Given the description of an element on the screen output the (x, y) to click on. 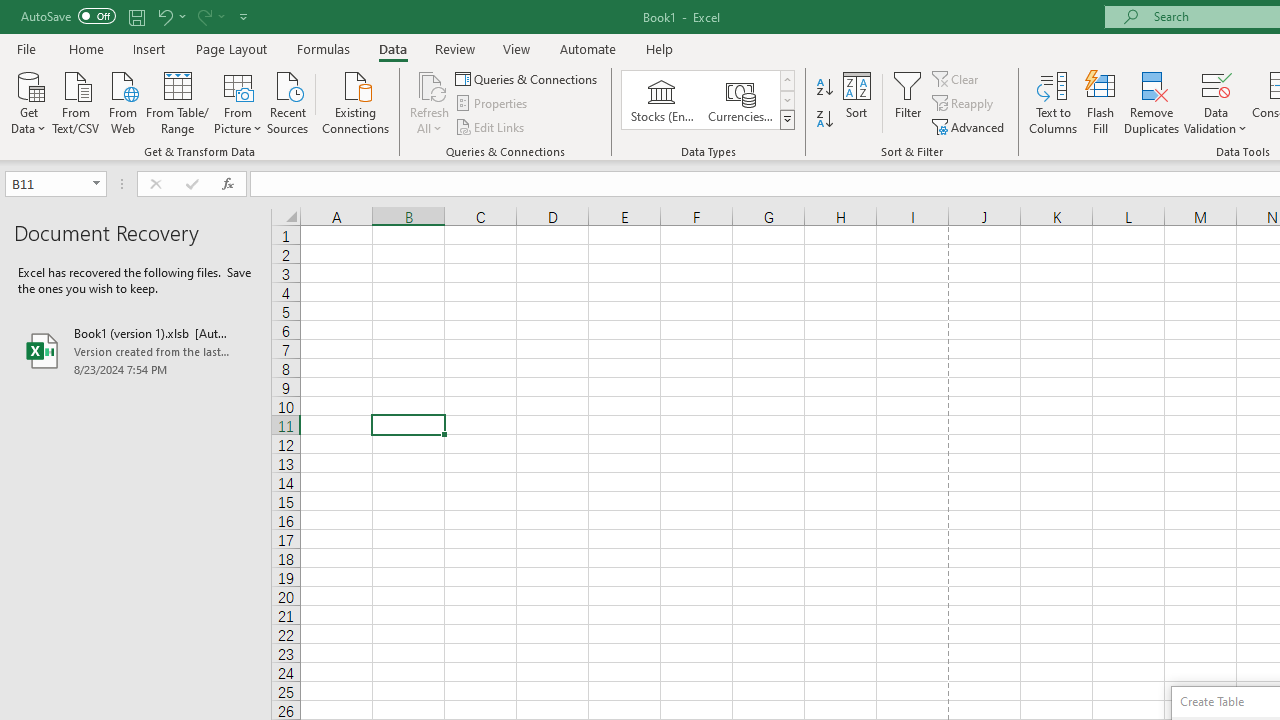
Refresh All (429, 84)
Edit Links (491, 126)
Recent Sources (287, 101)
AutoSave (68, 16)
View (517, 48)
Home (86, 48)
Quick Access Toolbar (136, 16)
From Web (122, 101)
Get Data (28, 101)
Save (136, 15)
Automate (588, 48)
Clear (957, 78)
